Given the description of an element on the screen output the (x, y) to click on. 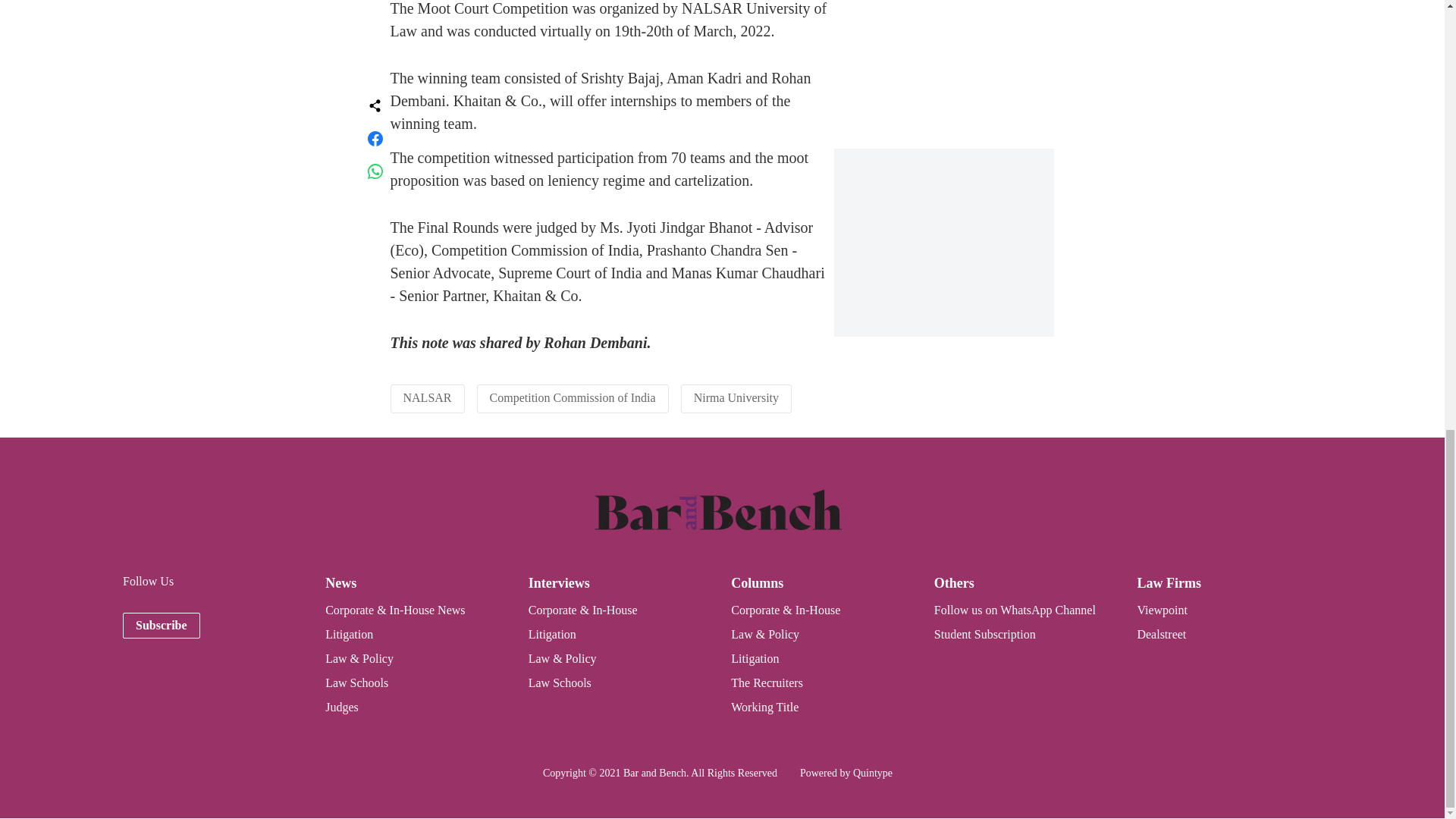
Law Schools (356, 682)
Law Schools (559, 682)
Competition Commission of India (572, 396)
Litigation (552, 634)
NALSAR (427, 396)
Litigation (754, 658)
Nirma University (736, 396)
Judges (341, 707)
Columns (756, 582)
Litigation (348, 634)
News (340, 582)
Interviews (558, 582)
